Given the description of an element on the screen output the (x, y) to click on. 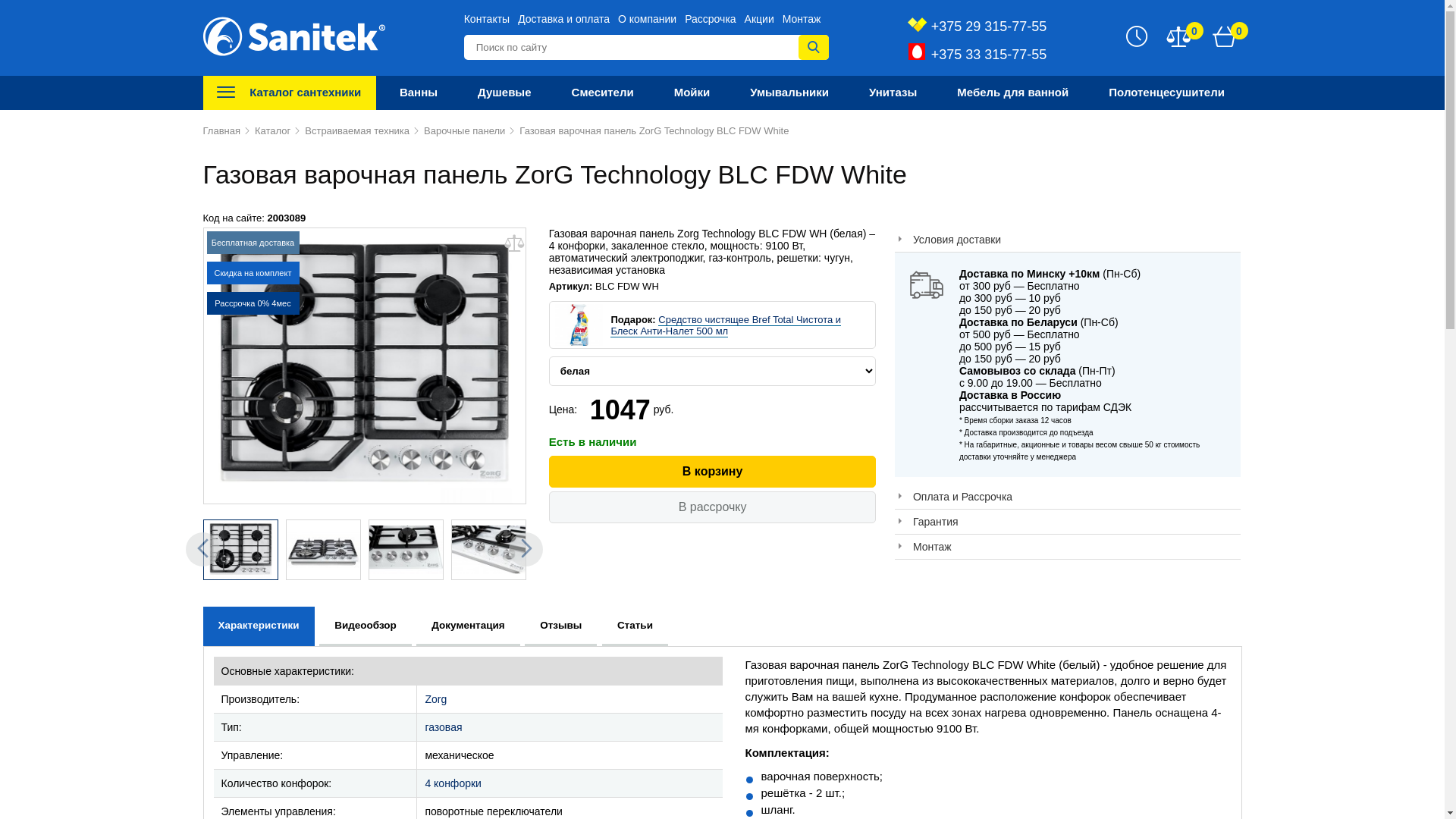
Zorg Element type: text (435, 699)
0 Element type: text (1223, 36)
  Element type: text (487, 549)
  Element type: text (405, 549)
  Element type: text (240, 549)
  Element type: text (322, 549)
